Given the description of an element on the screen output the (x, y) to click on. 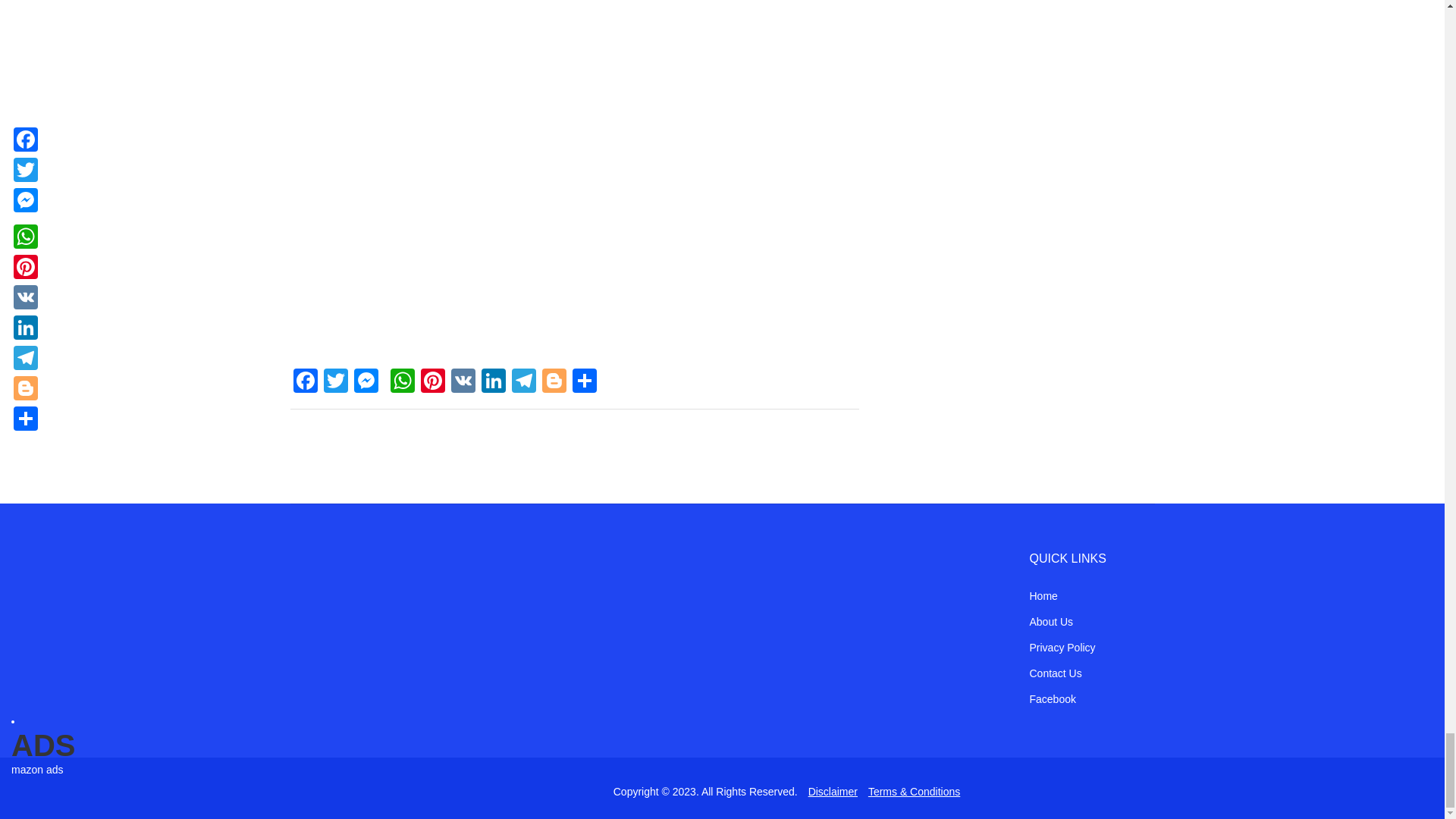
WhatsApp (401, 382)
Contact Us (1055, 673)
Telegram (523, 382)
Facebook (304, 382)
LinkedIn (492, 382)
Messenger (365, 382)
Home (1043, 595)
VK (461, 382)
Facebook Messenger (365, 382)
Facebook (1052, 698)
VK (461, 382)
Twitter (335, 382)
LinkedIn (492, 382)
Blogger (553, 382)
Share (583, 382)
